Given the description of an element on the screen output the (x, y) to click on. 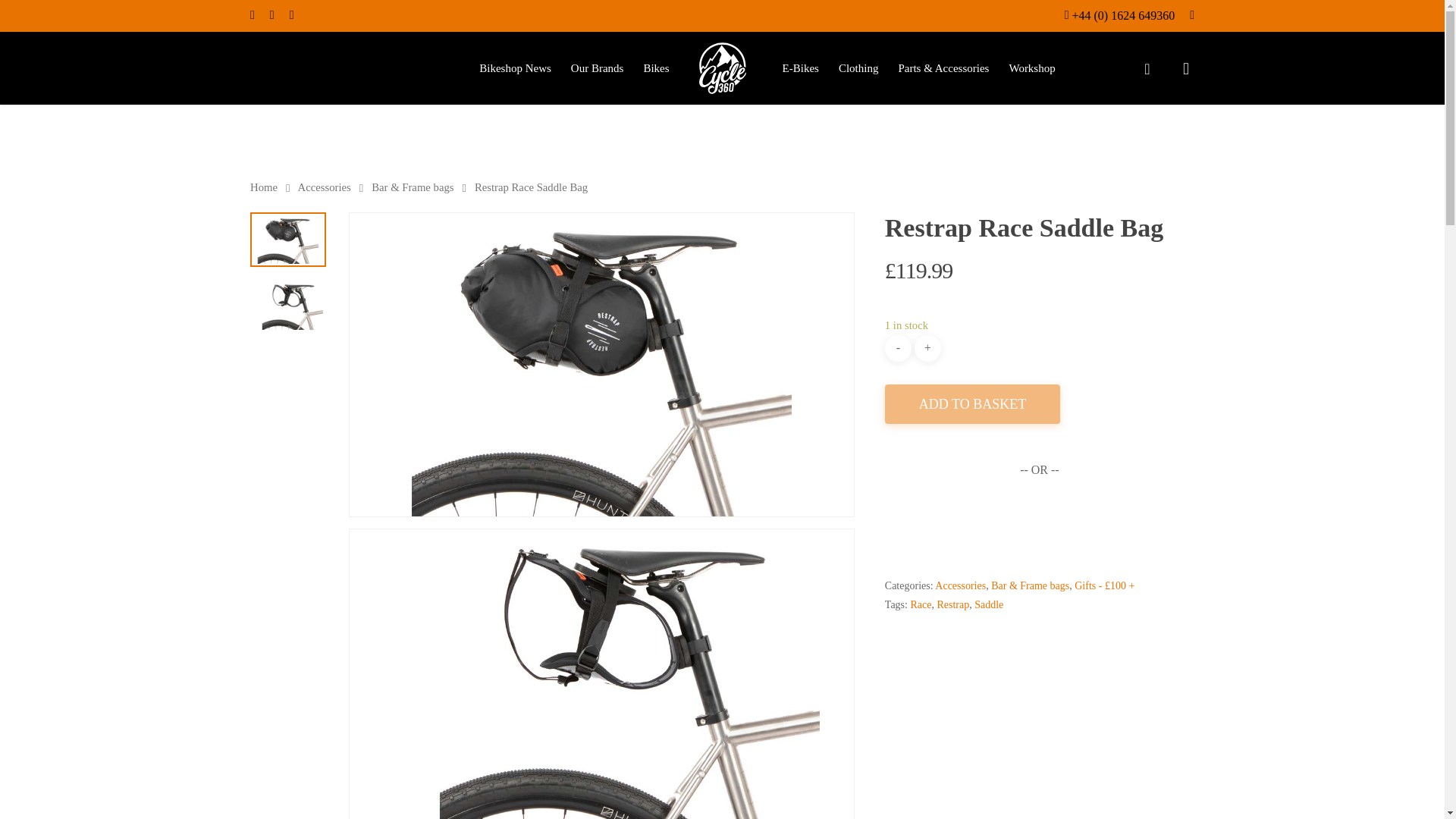
Bikes (655, 67)
Bikeshop News (515, 67)
PayPal (1039, 520)
Our Brands (597, 67)
- (898, 347)
